Given the description of an element on the screen output the (x, y) to click on. 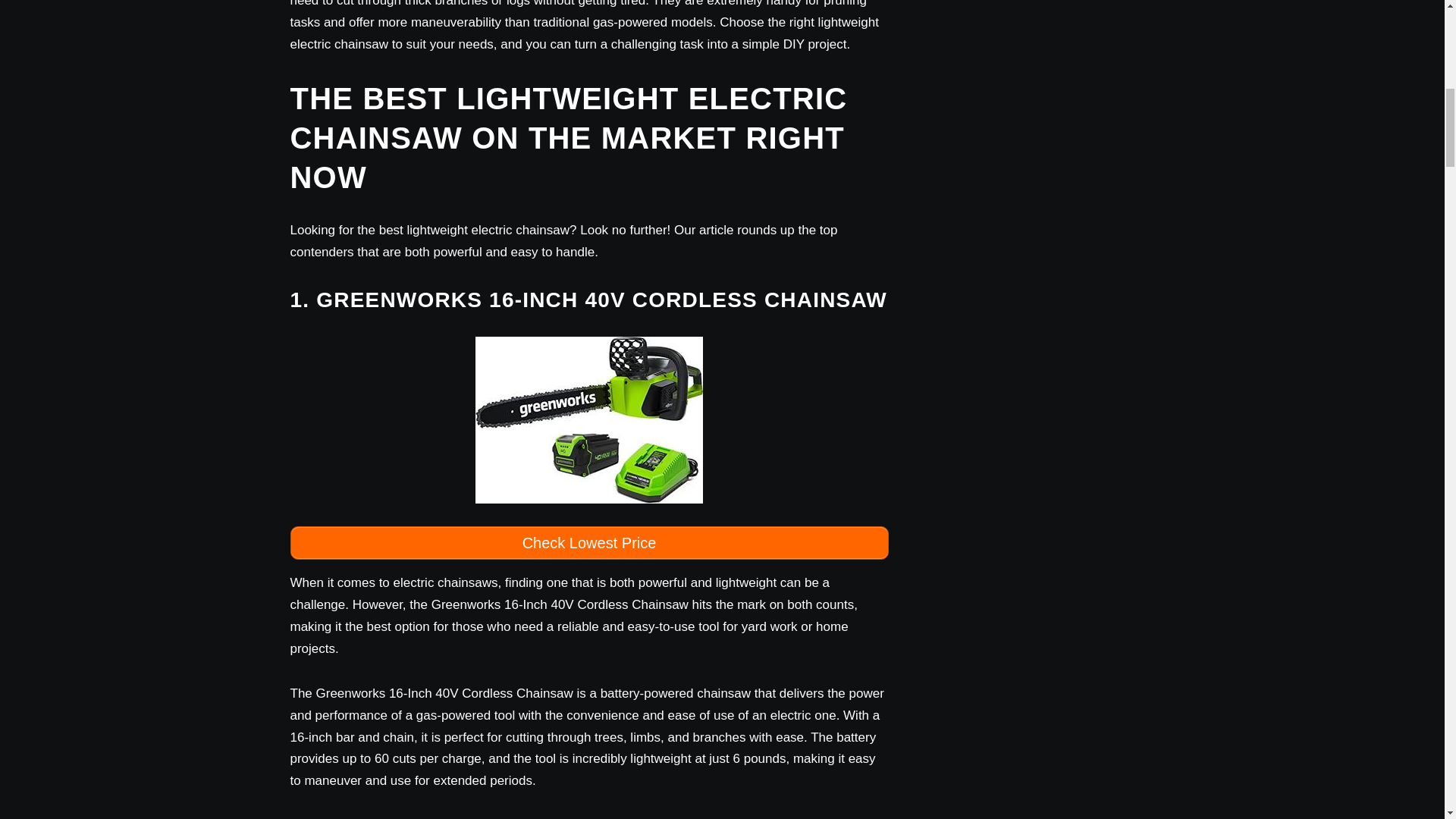
Check Lowest Price (588, 542)
